Given the description of an element on the screen output the (x, y) to click on. 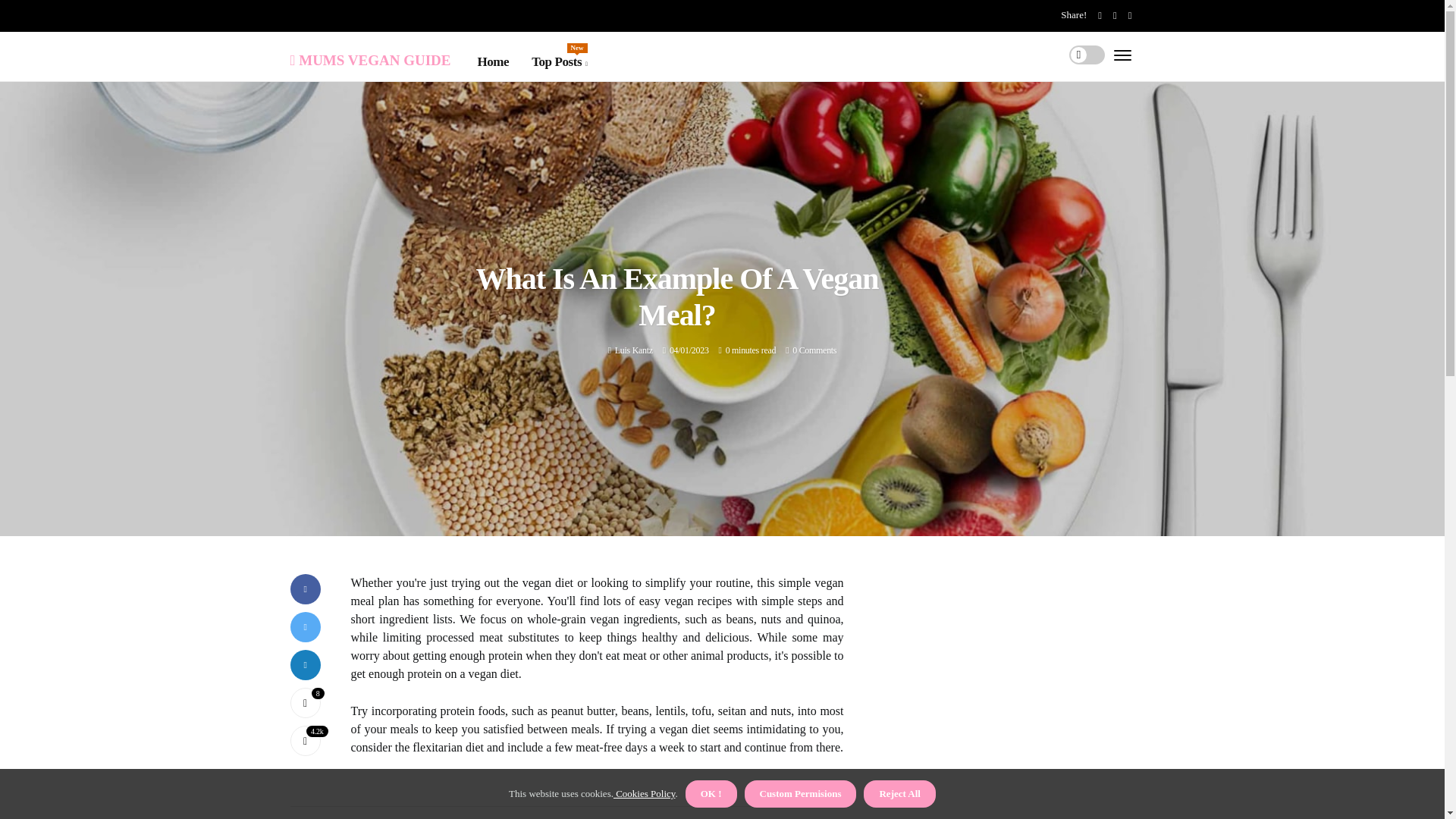
Mums Vegan Guide (369, 58)
Like (304, 702)
Posts by Luis Kantz (633, 349)
0 Comments (813, 349)
Luis Kantz (558, 61)
8 (633, 349)
